Given the description of an element on the screen output the (x, y) to click on. 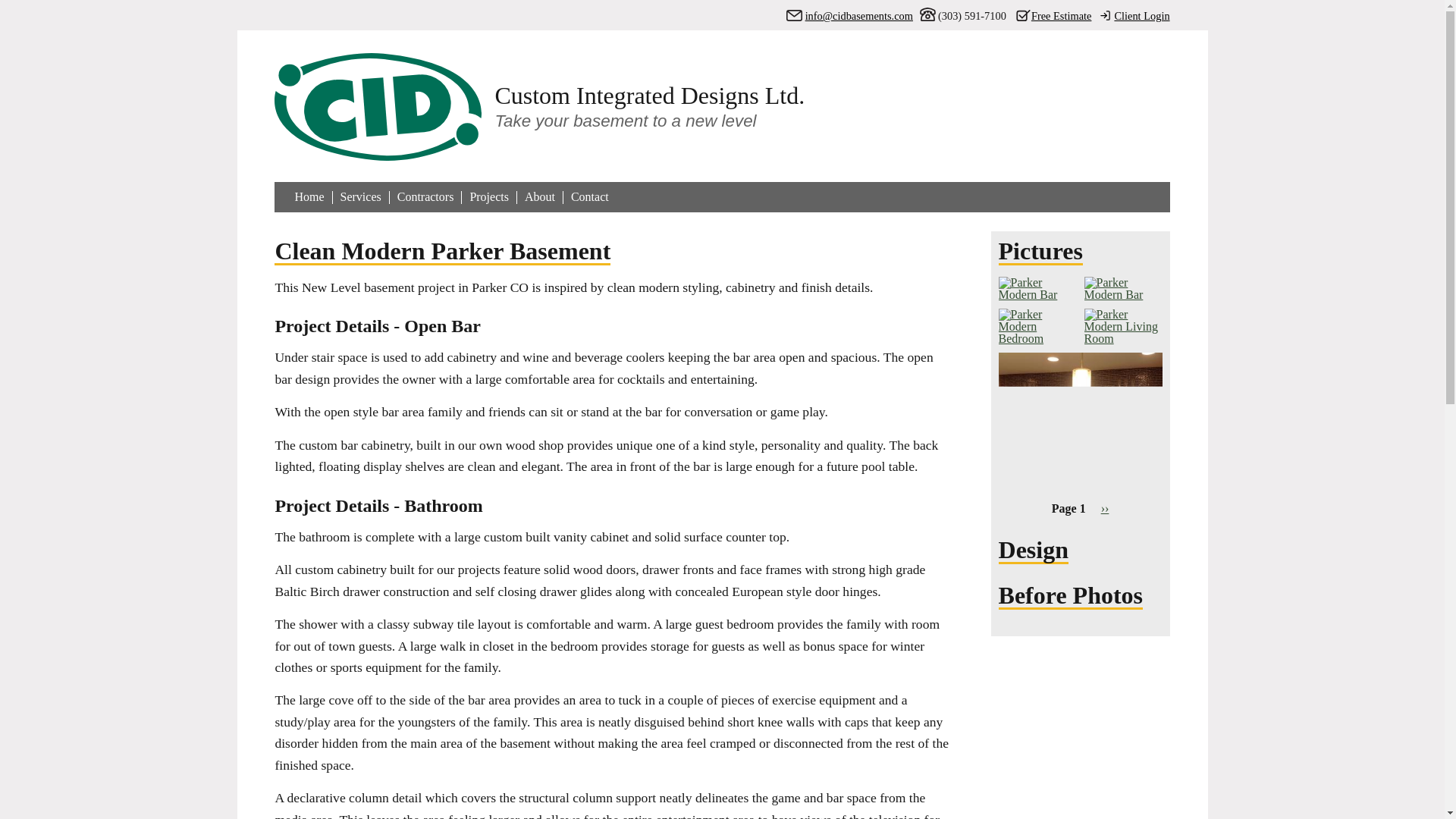
Parker Modern Bedroom (1037, 338)
Parker Modern Living Room (1122, 338)
Parker Modern Bar (1037, 294)
Services (360, 197)
Client Login (1129, 16)
Contact (589, 197)
Parker Modern Bar (1079, 492)
Home (308, 197)
Home (540, 107)
About (539, 197)
Free Estimate (1049, 16)
Contractors (425, 197)
Projects (488, 197)
